Given the description of an element on the screen output the (x, y) to click on. 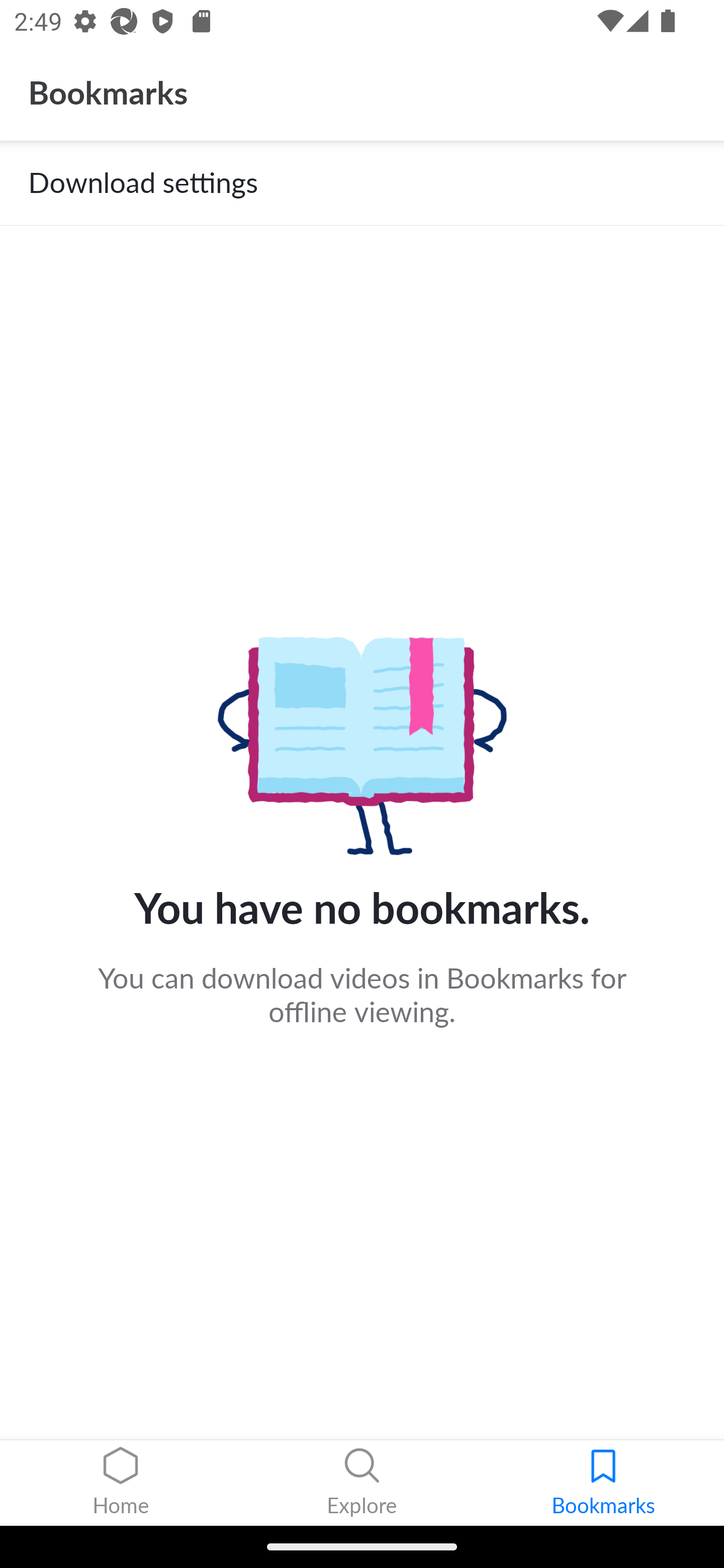
Download settings (362, 183)
Home (120, 1482)
Explore (361, 1482)
Bookmarks (603, 1482)
